Given the description of an element on the screen output the (x, y) to click on. 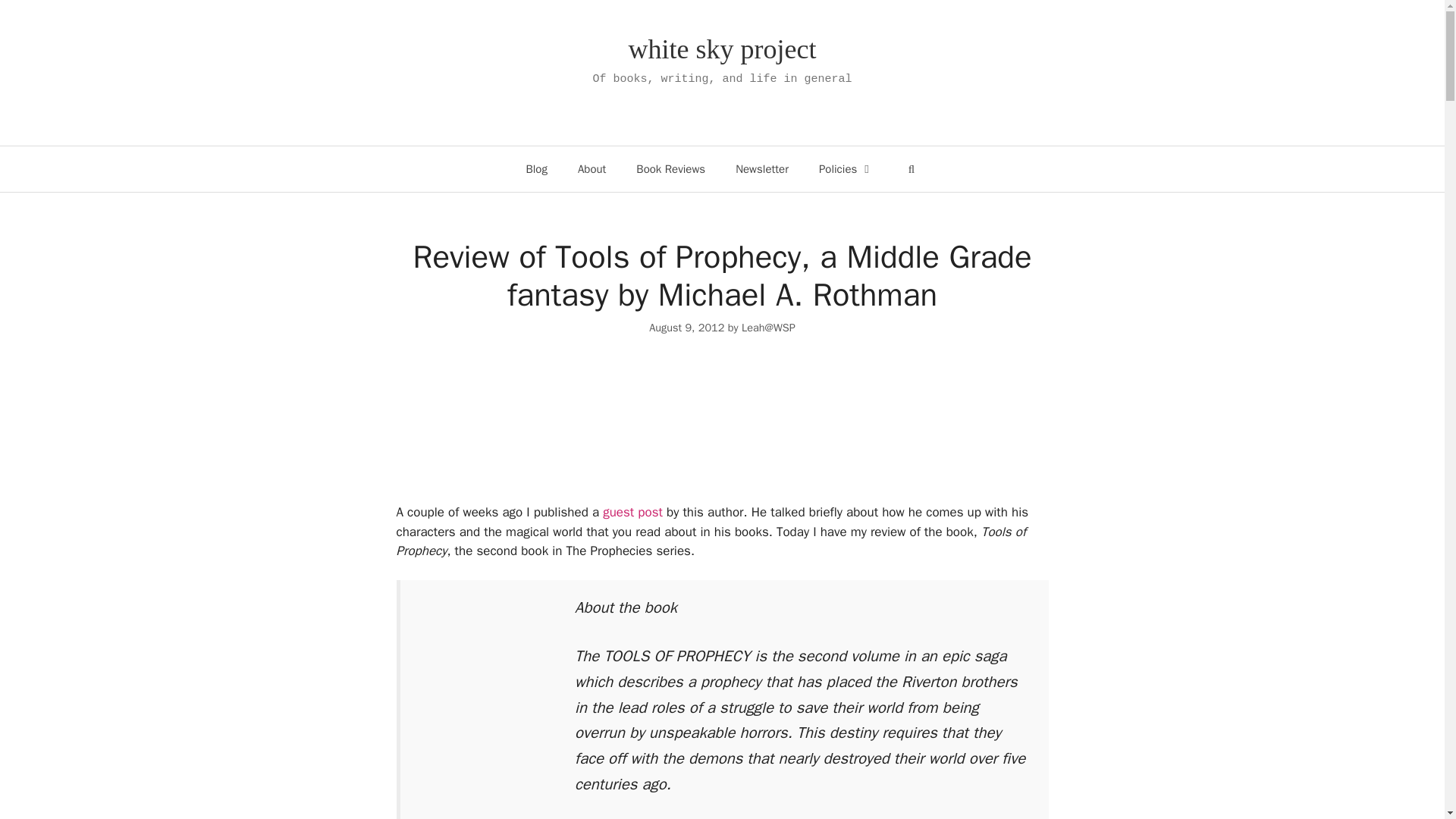
Book Reviews (670, 168)
About (591, 168)
guest post (632, 512)
Blog (536, 168)
white sky project (722, 49)
Policies (845, 168)
Newsletter (761, 168)
